Given the description of an element on the screen output the (x, y) to click on. 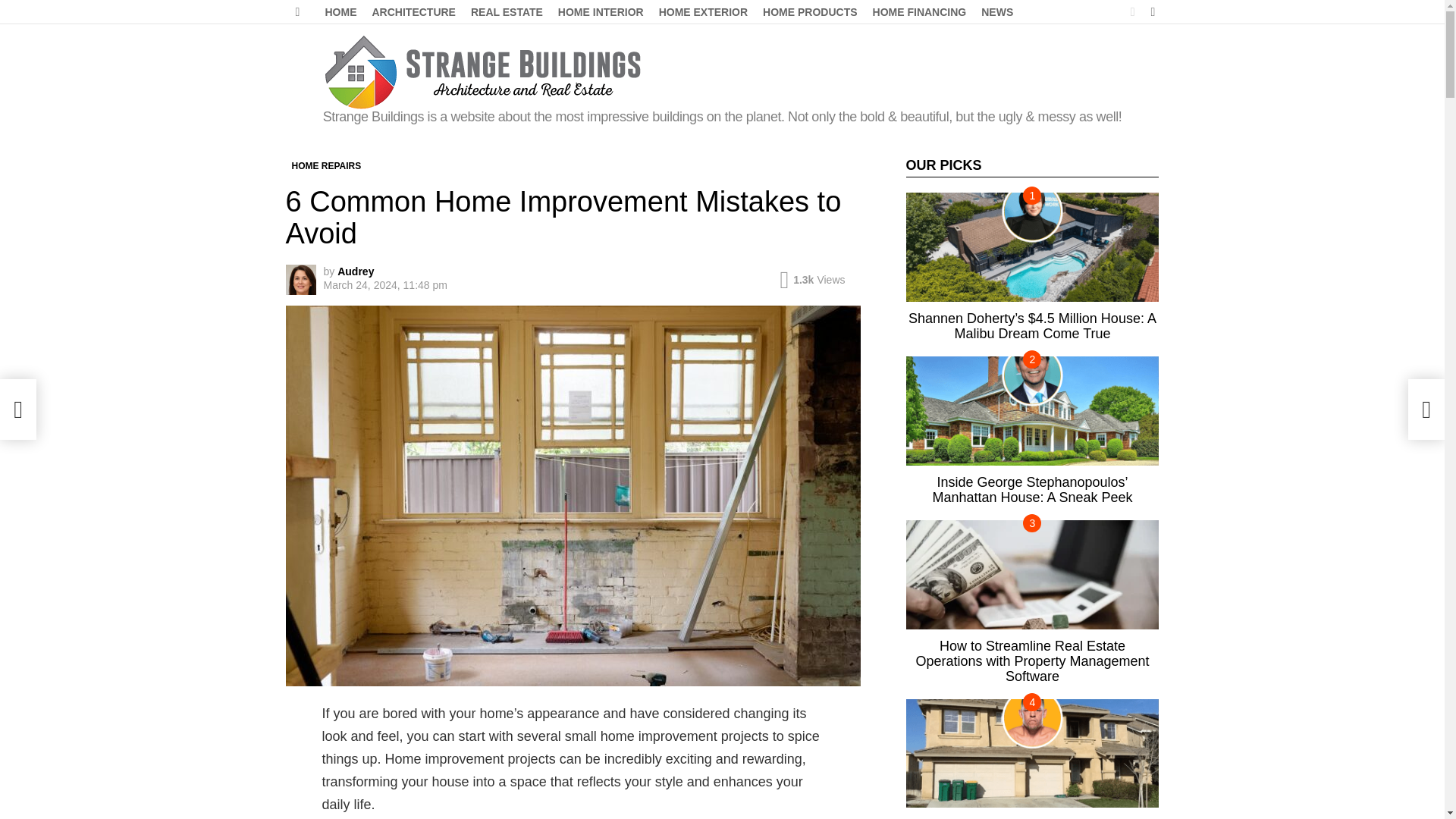
Posts by Audrey (355, 271)
HOME EXTERIOR (702, 11)
ARCHITECTURE (413, 11)
HOME PRODUCTS (809, 11)
Audrey (355, 271)
HOME (340, 11)
HOME REPAIRS (325, 165)
Menu (296, 12)
HOME FINANCING (919, 11)
HOME INTERIOR (600, 11)
REAL ESTATE (506, 11)
NEWS (997, 11)
